Given the description of an element on the screen output the (x, y) to click on. 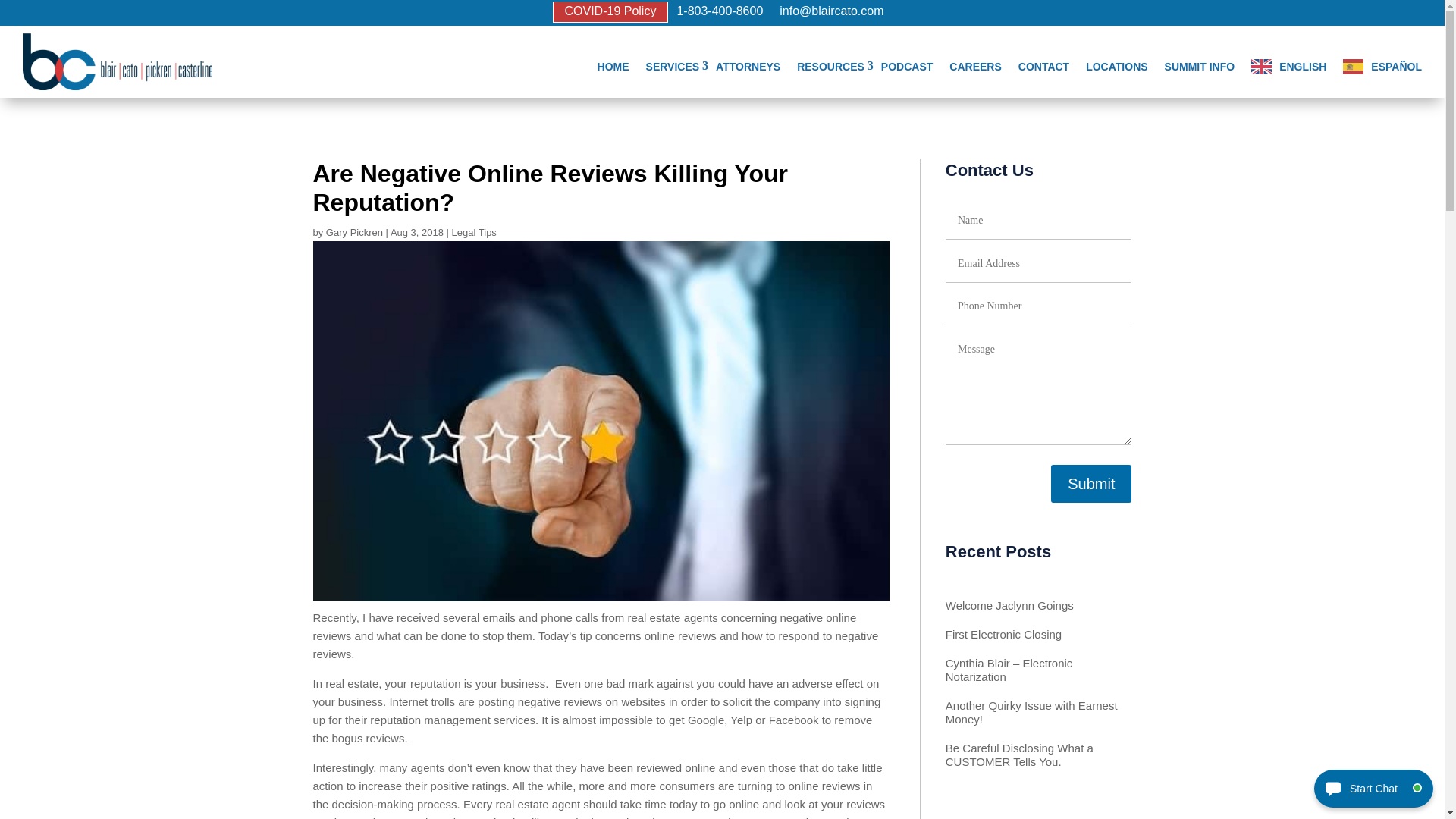
COVID-19 Policy (610, 12)
CONTACT (1042, 61)
SERVICES (673, 61)
1-803-400-8600 (719, 13)
RESOURCES (830, 61)
SUMMIT INFO (1199, 61)
LOCATIONS (1116, 61)
Posts by Gary Pickren (354, 232)
PODCAST (906, 61)
HOME (612, 61)
CAREERS (975, 61)
English (1288, 61)
ENGLISH (1288, 61)
ATTORNEYS (748, 61)
